Given the description of an element on the screen output the (x, y) to click on. 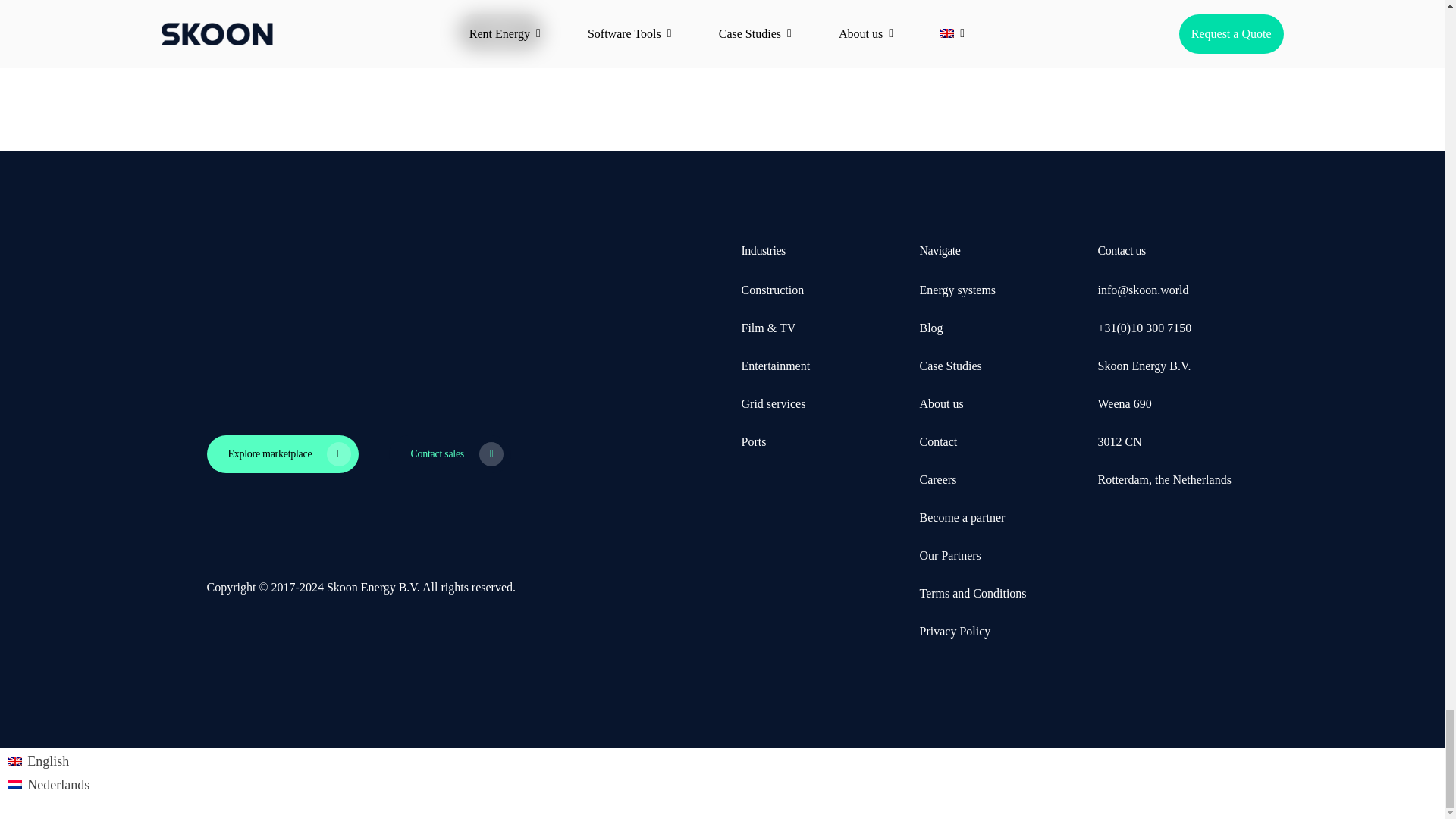
Explore marketplace (282, 453)
Contact sales (449, 453)
Submit (500, 31)
Submit (500, 31)
